Given the description of an element on the screen output the (x, y) to click on. 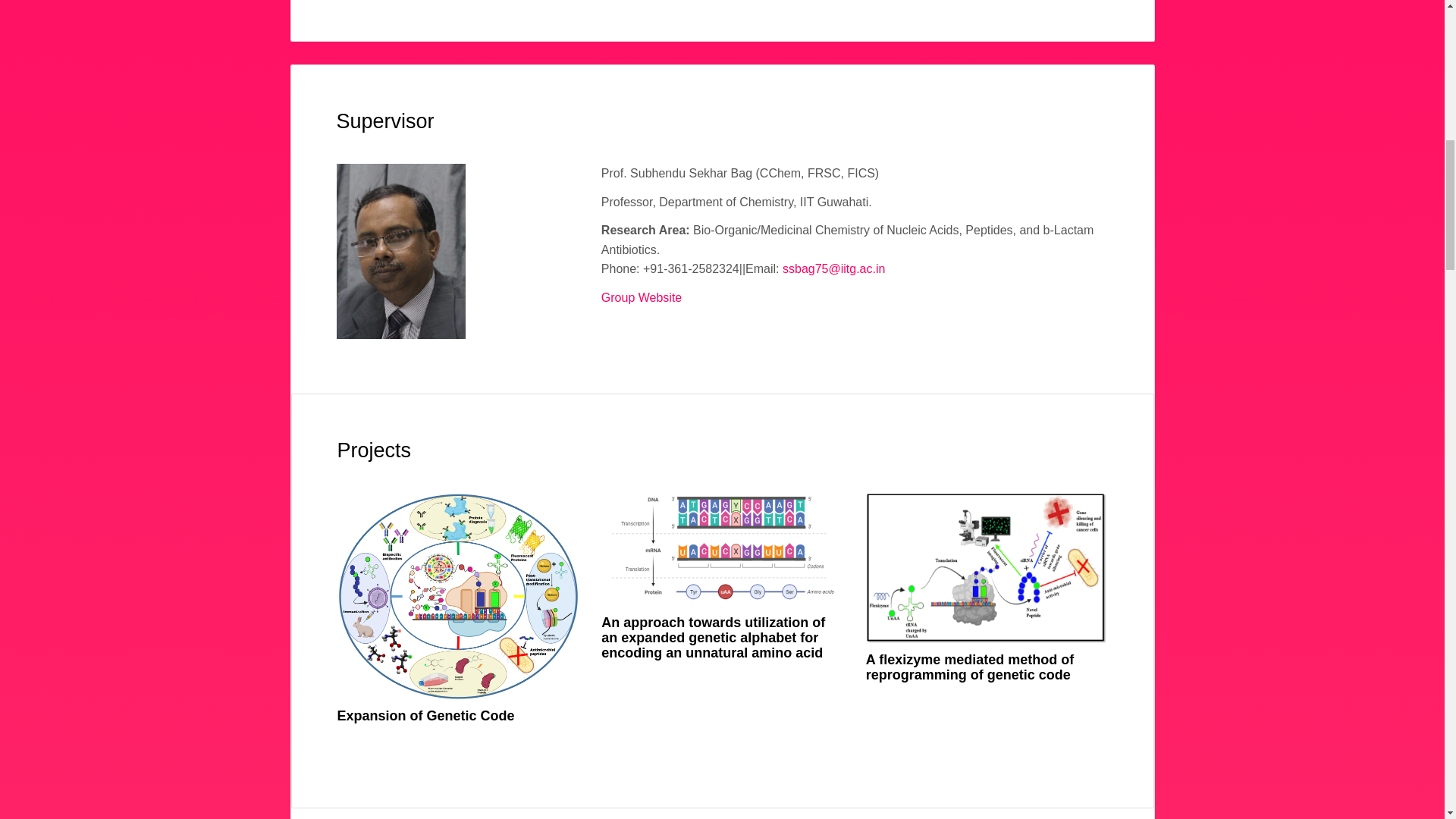
Group Website (641, 297)
